Given the description of an element on the screen output the (x, y) to click on. 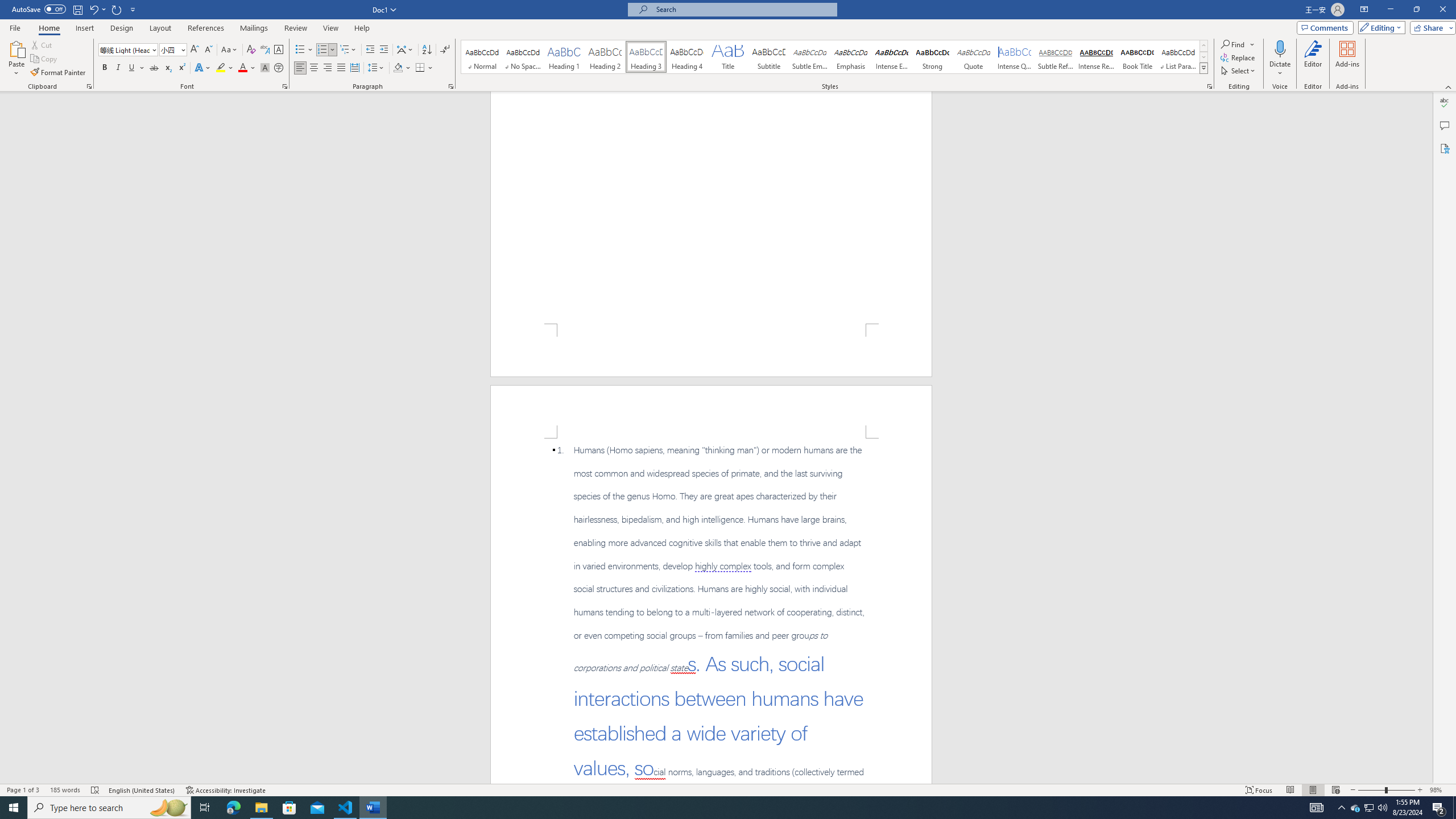
AutomationID: QuickStylesGallery (834, 56)
Intense Quote (1014, 56)
